Given the description of an element on the screen output the (x, y) to click on. 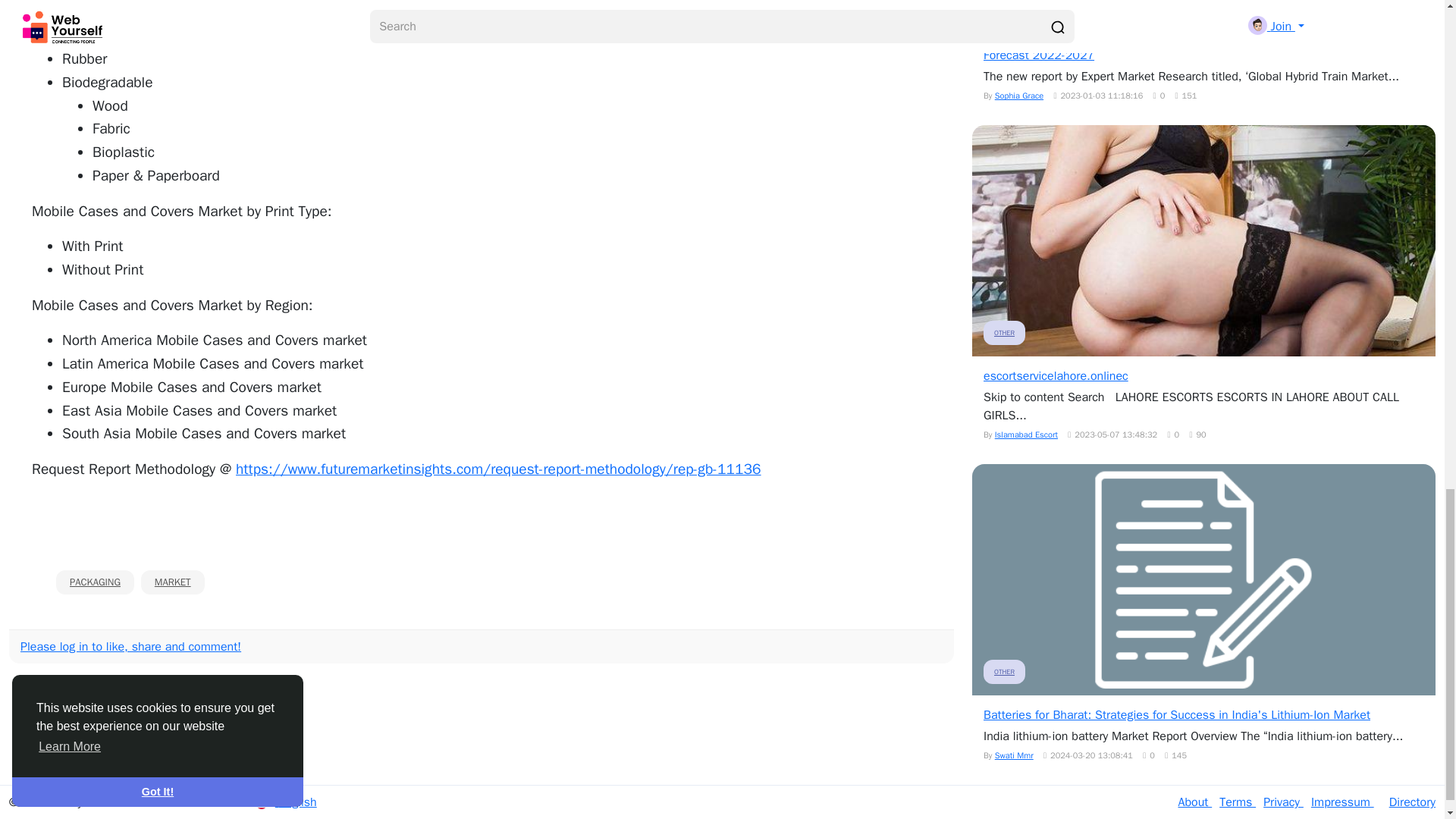
PACKAGING (94, 582)
Please log in to like, share and comment! (130, 646)
MARKET (173, 582)
